Given the description of an element on the screen output the (x, y) to click on. 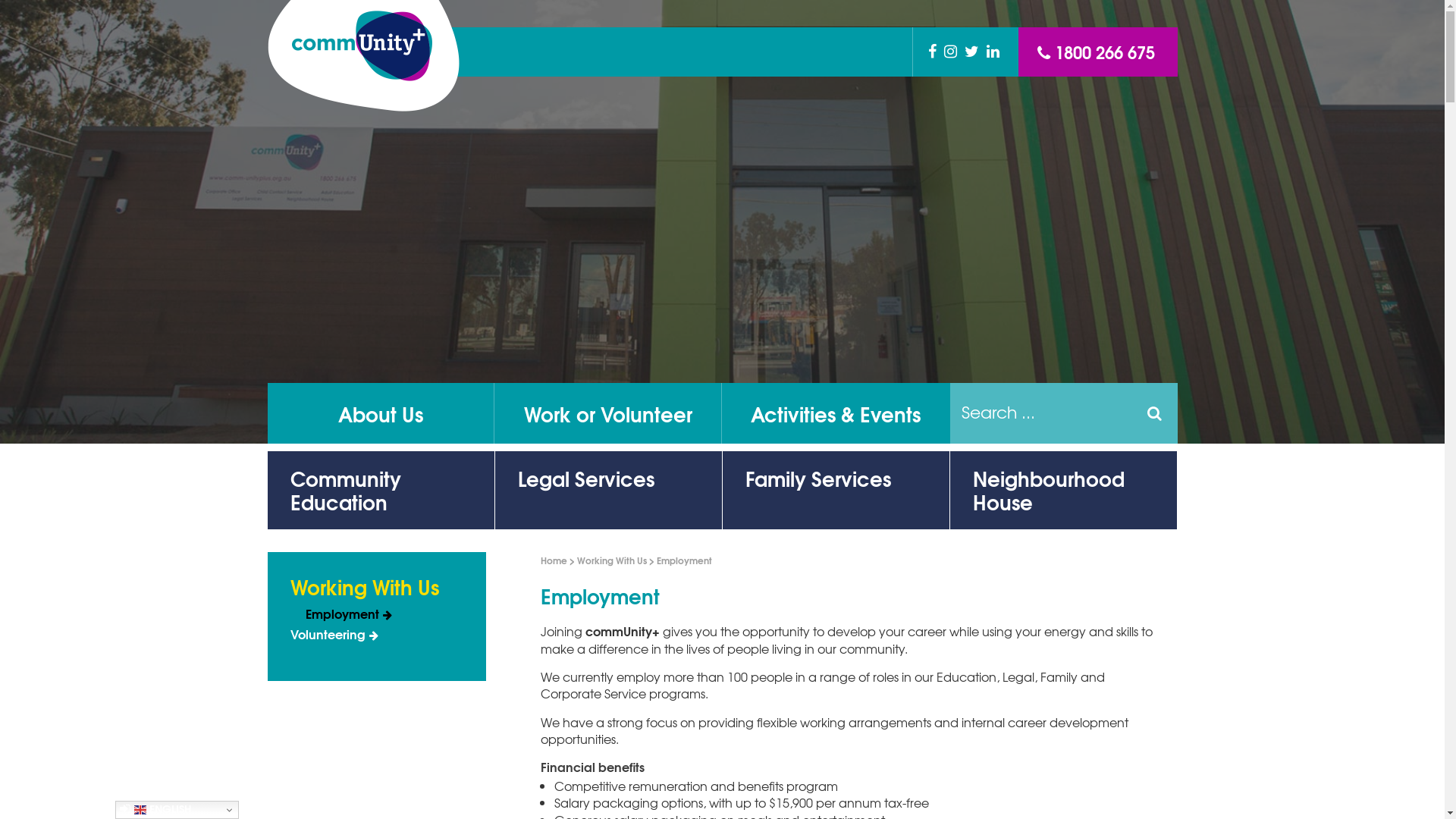
Employment Element type: text (383, 613)
Working With Us Element type: text (611, 559)
1800 266 675 Element type: text (1095, 51)
Volunteering Element type: text (375, 634)
About Us Element type: text (380, 412)
Go Element type: hover (1153, 412)
Family Services Element type: text (834, 489)
Employment Element type: text (684, 559)
Working With Us Element type: text (375, 589)
Work or Volunteer Element type: text (607, 412)
Neighbourhood House Element type: text (1062, 489)
Activities & Events Element type: text (835, 412)
Legal Services Element type: text (607, 489)
Community Education Element type: text (379, 489)
Home Element type: text (552, 559)
